Given the description of an element on the screen output the (x, y) to click on. 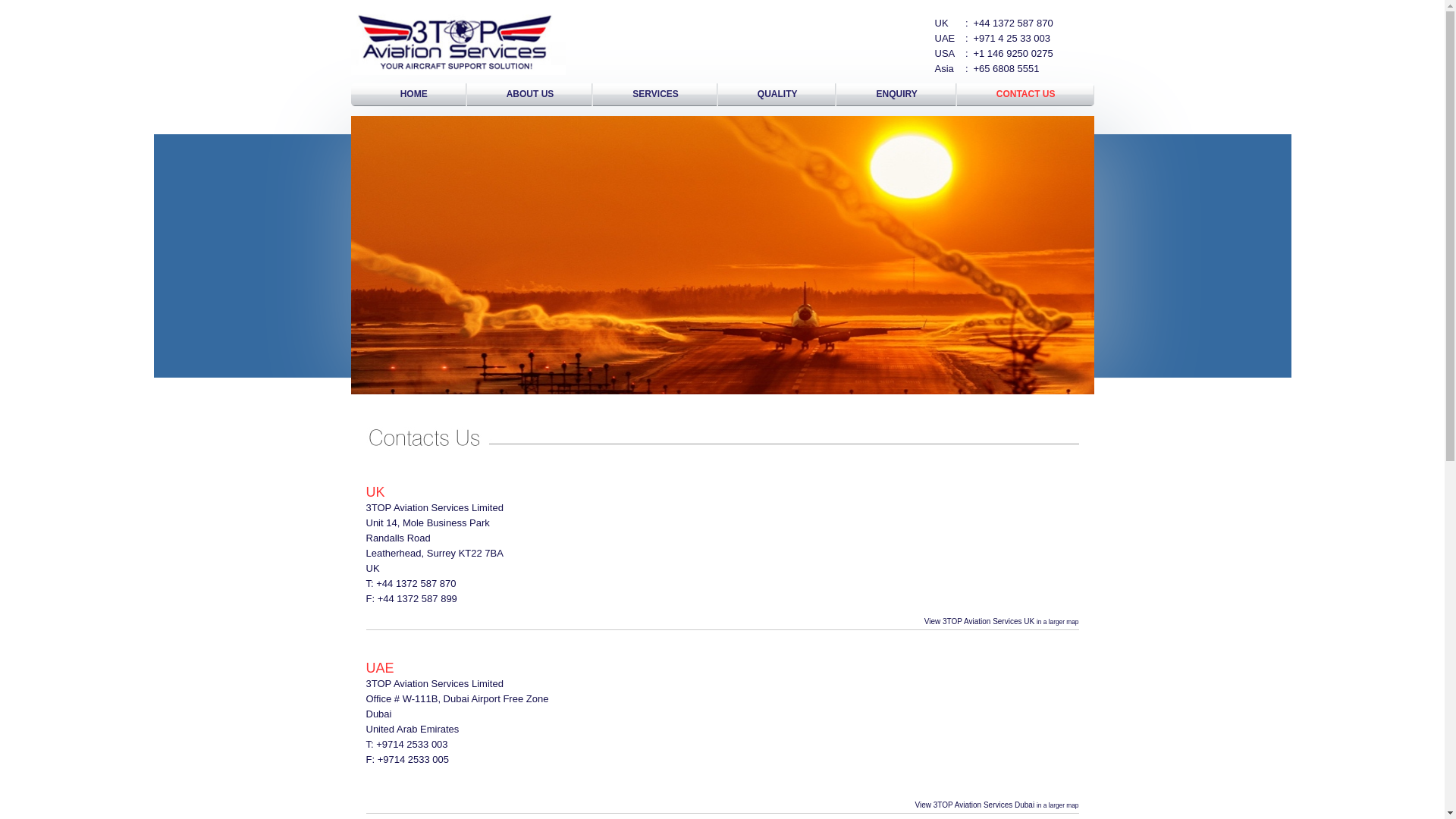
SERVICES Element type: text (654, 94)
View 3TOP Aviation Services Dubai in a larger map Element type: text (996, 804)
3top Aviation Element type: hover (721, 255)
3top Aviation Logo Element type: hover (457, 41)
CONTACT US Element type: text (1025, 94)
HOME Element type: text (413, 94)
ENQUIRY Element type: text (895, 94)
QUALITY Element type: text (776, 94)
ABOUT US Element type: text (529, 94)
View 3TOP Aviation Services UK in a larger map Element type: text (1001, 620)
